Given the description of an element on the screen output the (x, y) to click on. 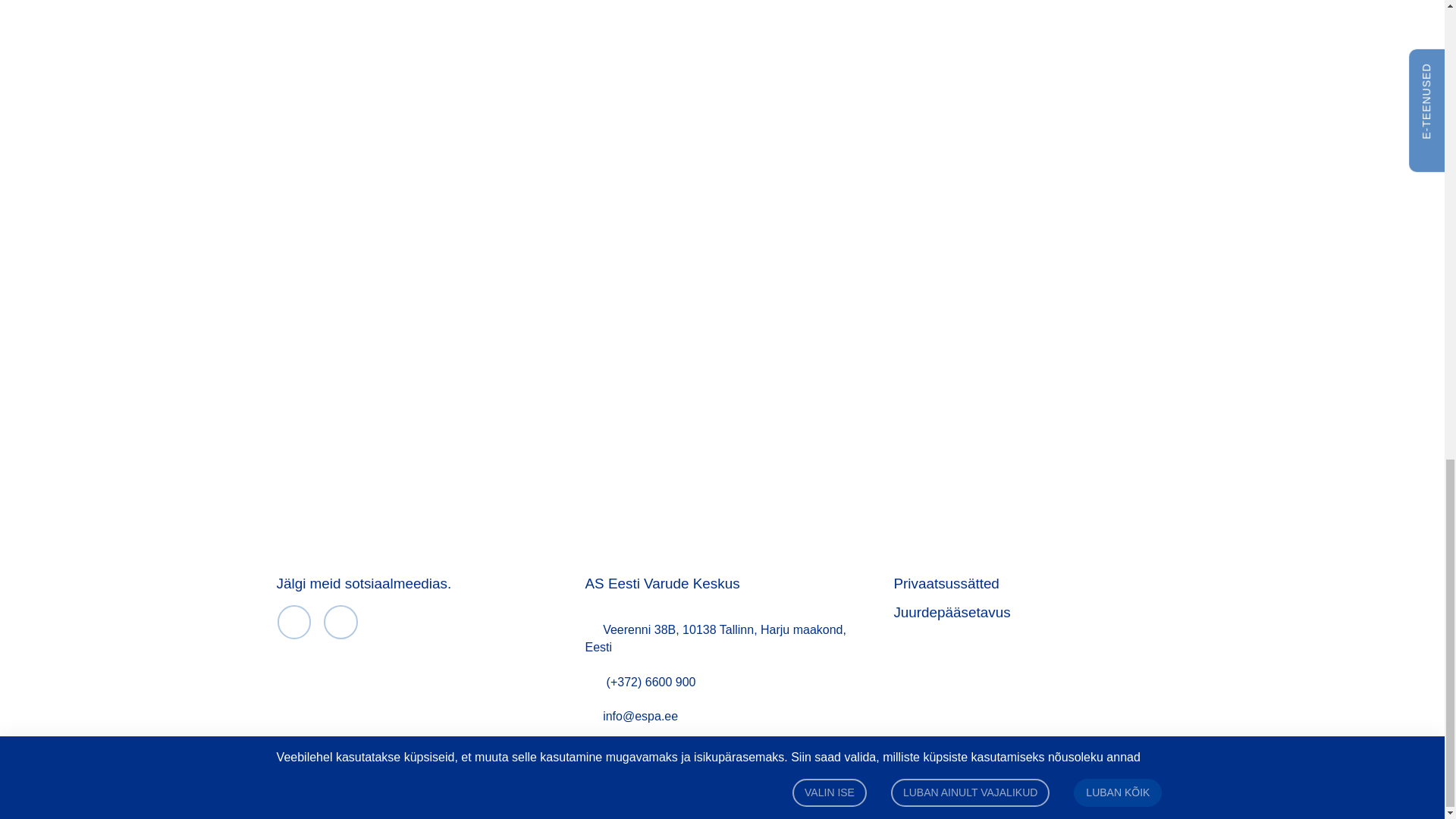
facebook (294, 622)
rss (340, 622)
